Given the description of an element on the screen output the (x, y) to click on. 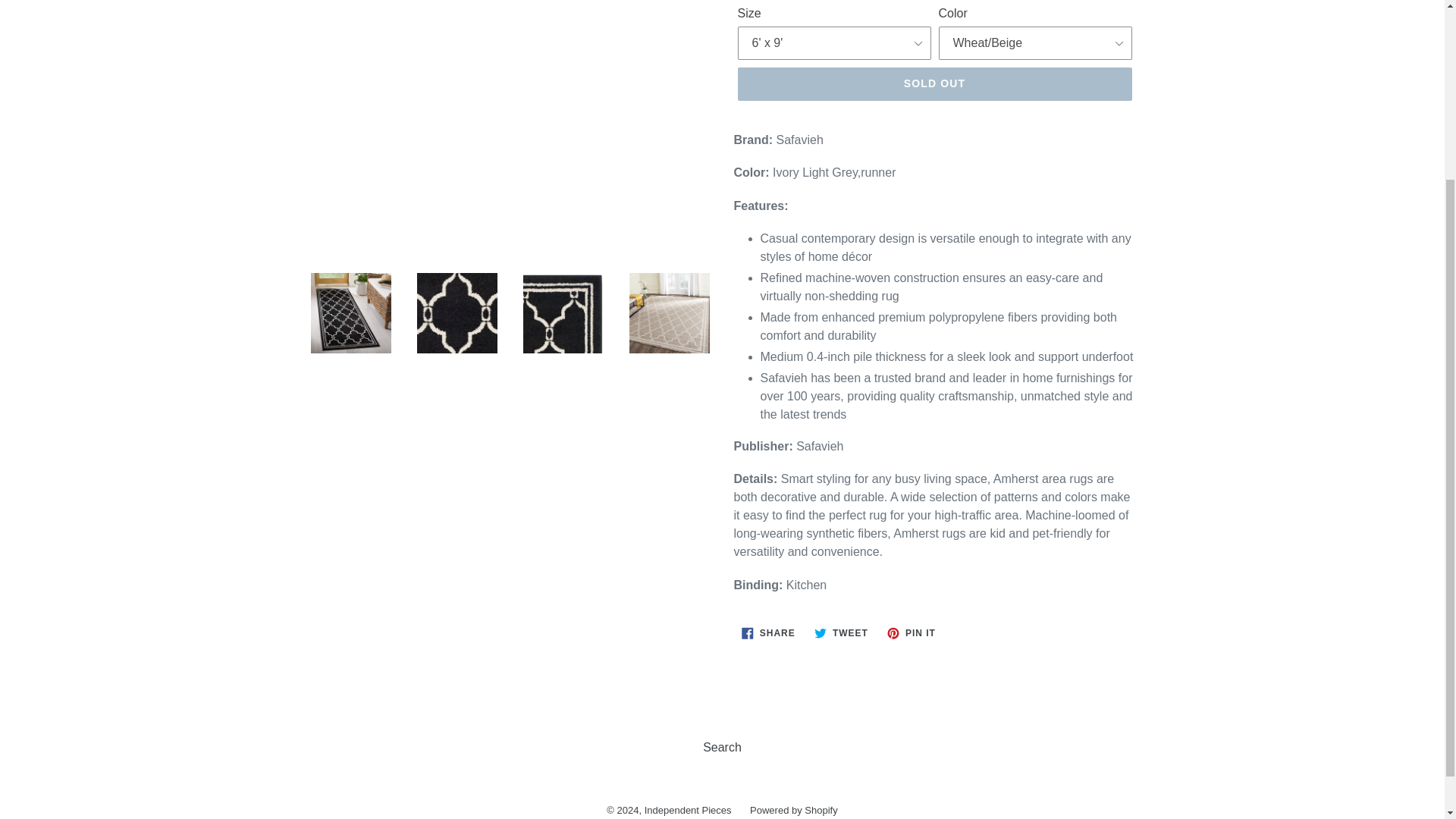
Search (841, 632)
Powered by Shopify (722, 747)
SOLD OUT (793, 809)
Independent Pieces (911, 632)
